Given the description of an element on the screen output the (x, y) to click on. 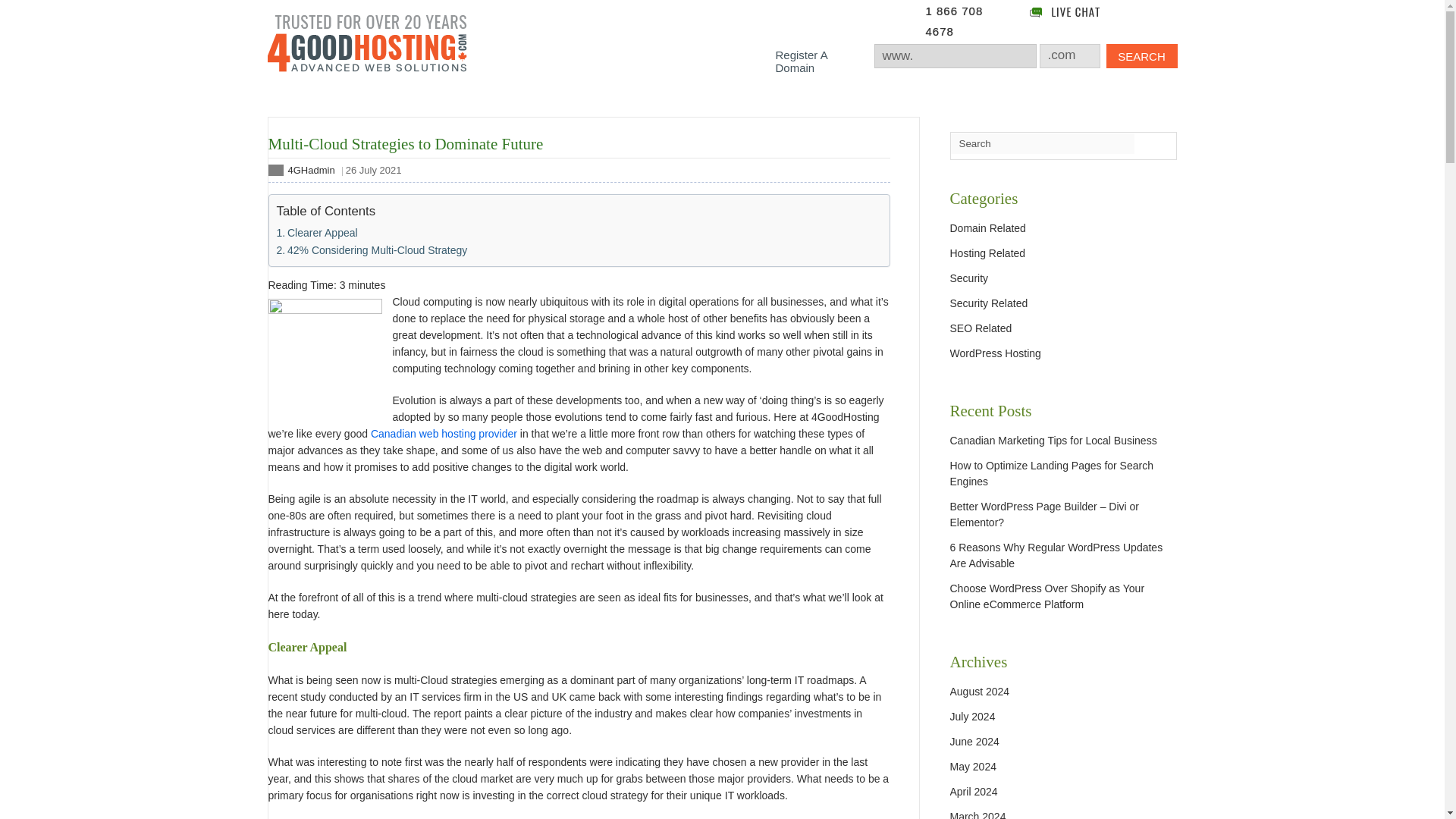
SEARCH (1140, 55)
SEARCH (1140, 55)
Designs (838, 106)
Search (1042, 143)
Web SiteBuilder (649, 106)
.com (1070, 55)
VPS (467, 106)
Domains (544, 106)
Clearer Appeal  (316, 232)
SEARCH (1140, 55)
